Given the description of an element on the screen output the (x, y) to click on. 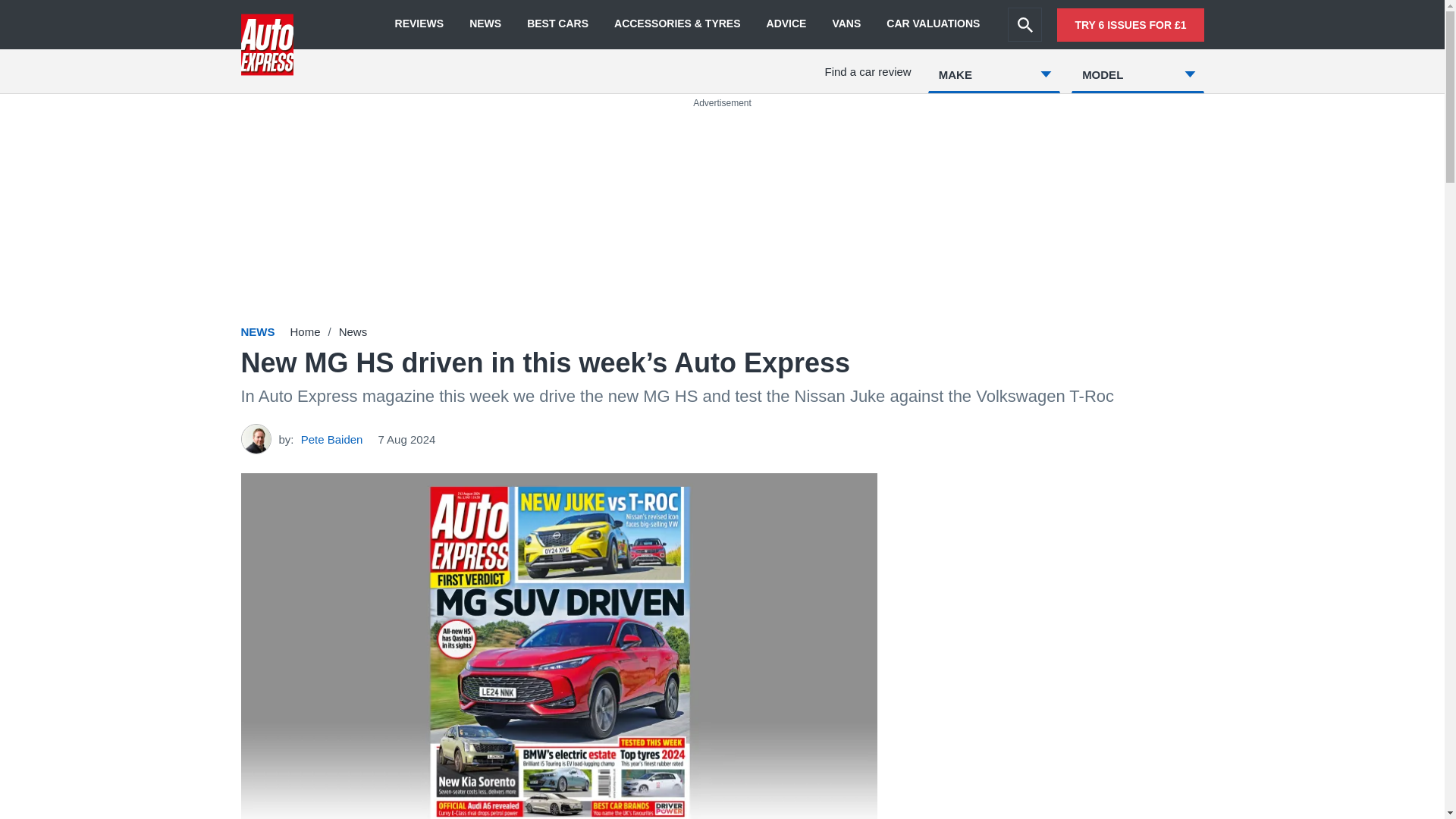
News (353, 331)
CAR VALUATIONS (932, 24)
Pete Baiden (331, 438)
Search (1024, 24)
REVIEWS (419, 24)
Search (1024, 24)
Home (304, 331)
ADVICE (786, 24)
BEST CARS (557, 24)
